Given the description of an element on the screen output the (x, y) to click on. 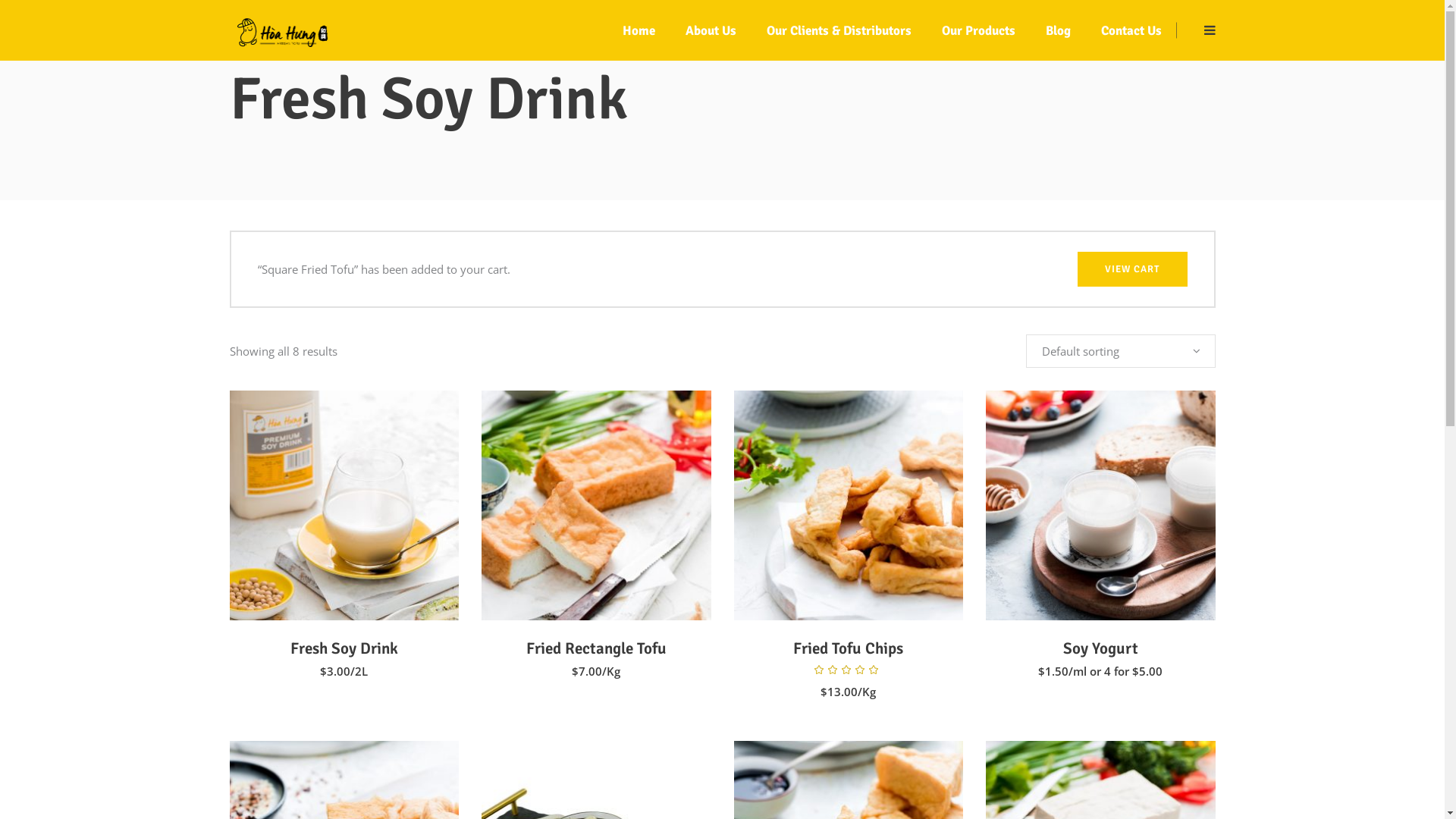
Home Element type: text (637, 29)
About Us Element type: text (710, 29)
Our Clients & Distributors Element type: text (632, 537)
Blog Element type: text (577, 588)
Contact Us Element type: text (593, 614)
Fresh Soy Drink Element type: text (344, 648)
About Us Element type: text (589, 511)
VIEW CART Element type: text (1131, 268)
Fried Tofu Chips Element type: text (848, 648)
Contact Us Element type: text (1130, 29)
Fried Rectangle Tofu Element type: text (596, 648)
Our Products Element type: text (600, 563)
Blog Element type: text (1057, 29)
Home Element type: text (581, 485)
Soy Yogurt Element type: text (1100, 648)
Our Clients & Distributors Element type: text (837, 29)
Our Products Element type: text (978, 29)
